Given the description of an element on the screen output the (x, y) to click on. 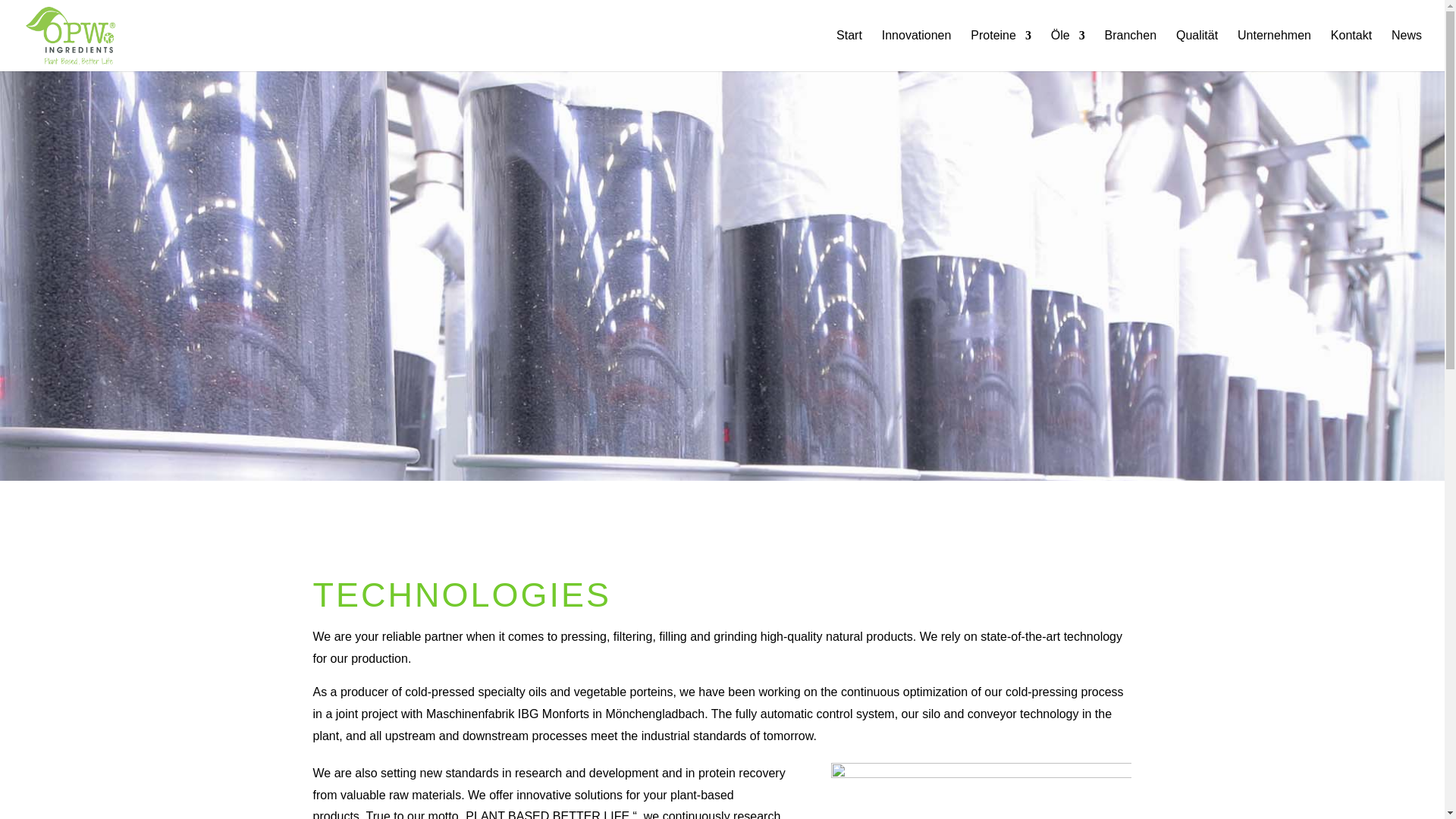
Proteine (1000, 50)
Kontakt (1350, 50)
Page 3 (549, 790)
production line (981, 790)
Unternehmen (1274, 50)
Branchen (1131, 50)
Innovationen (917, 50)
Page 3 (722, 686)
